Given the description of an element on the screen output the (x, y) to click on. 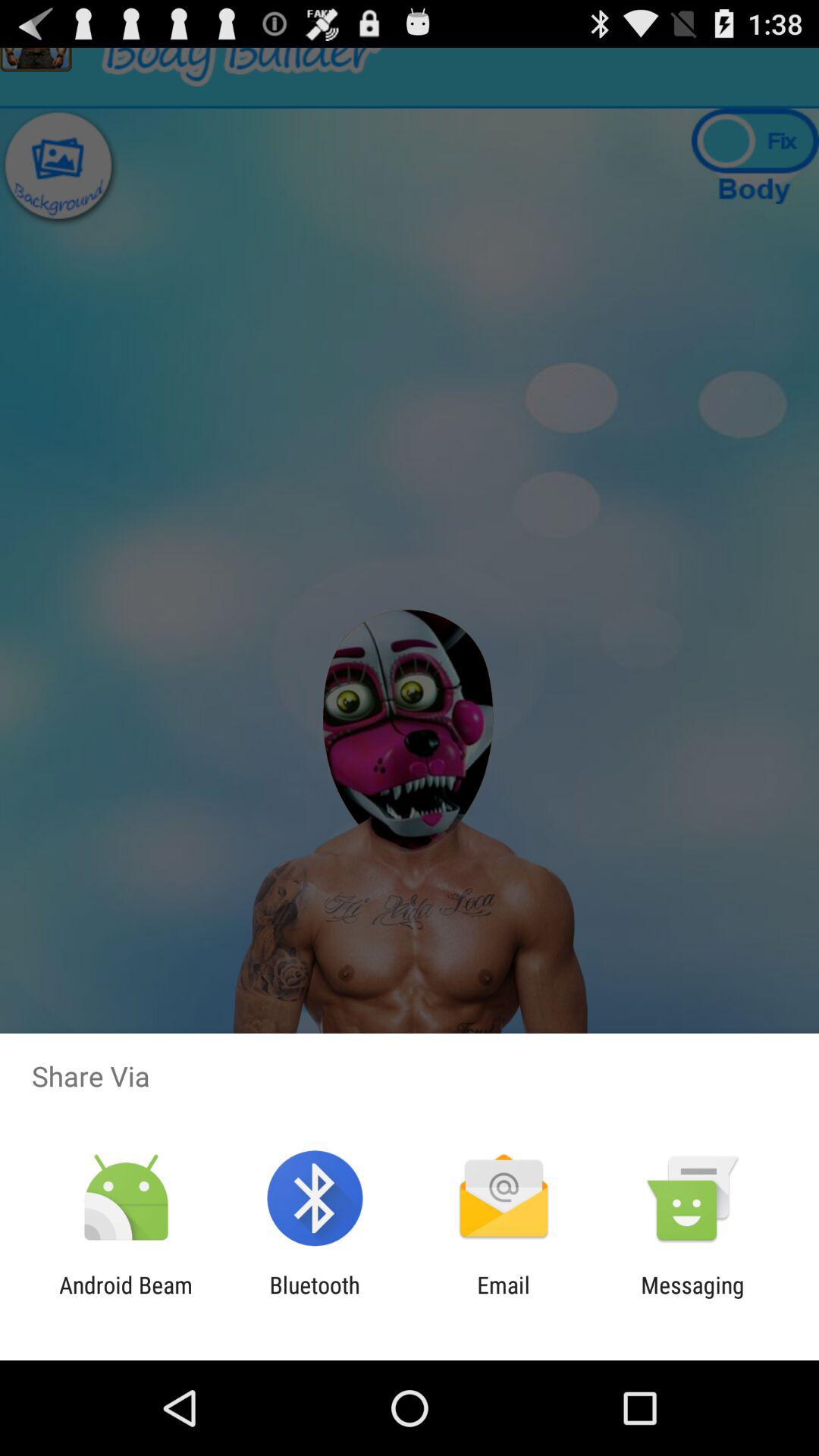
press the bluetooth app (314, 1298)
